Given the description of an element on the screen output the (x, y) to click on. 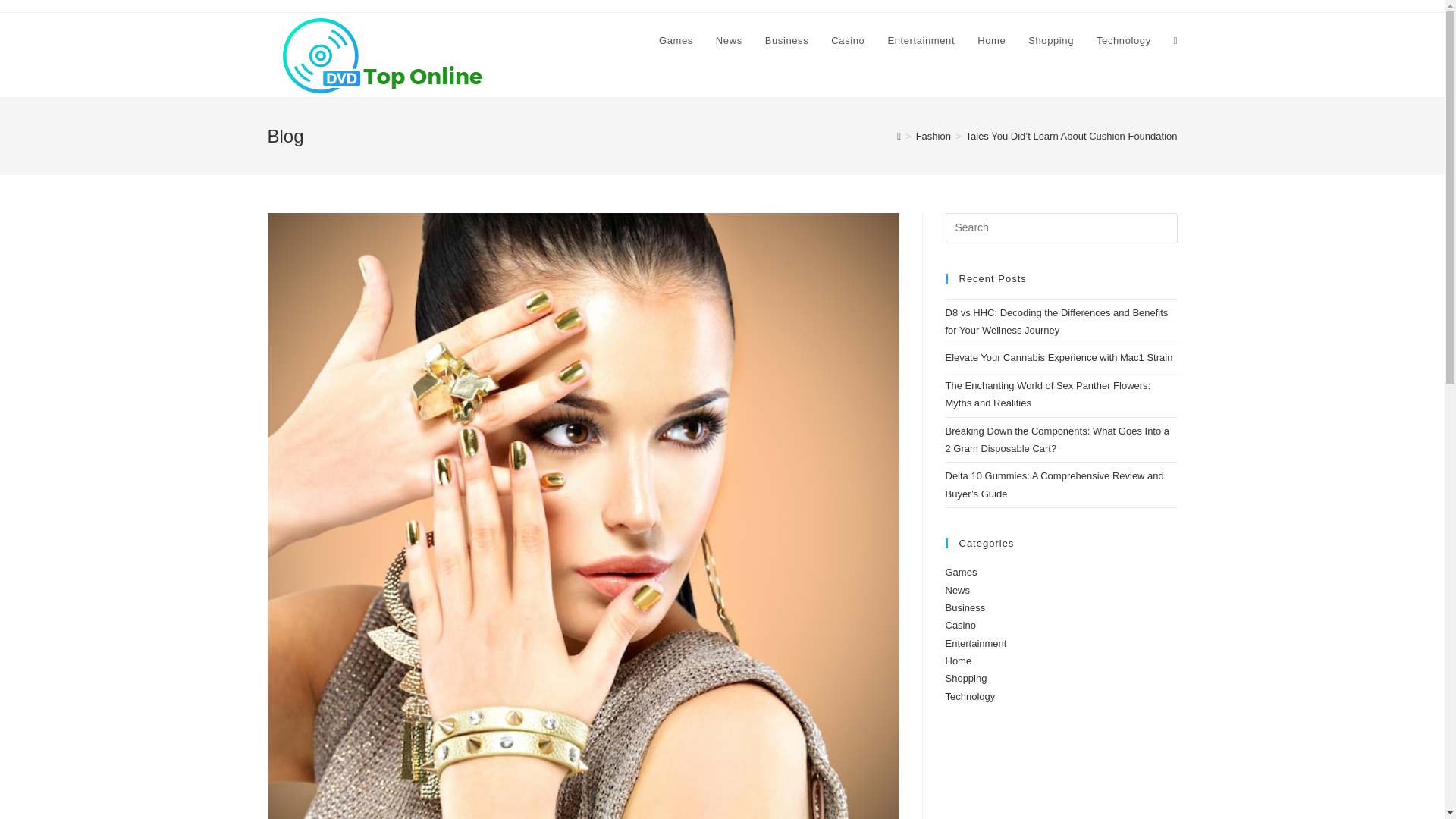
Fashion (932, 135)
Elevate Your Cannabis Experience with Mac1 Strain (1058, 357)
Games (960, 572)
Home (991, 40)
Business (787, 40)
News (956, 589)
Shopping (1050, 40)
